Given the description of an element on the screen output the (x, y) to click on. 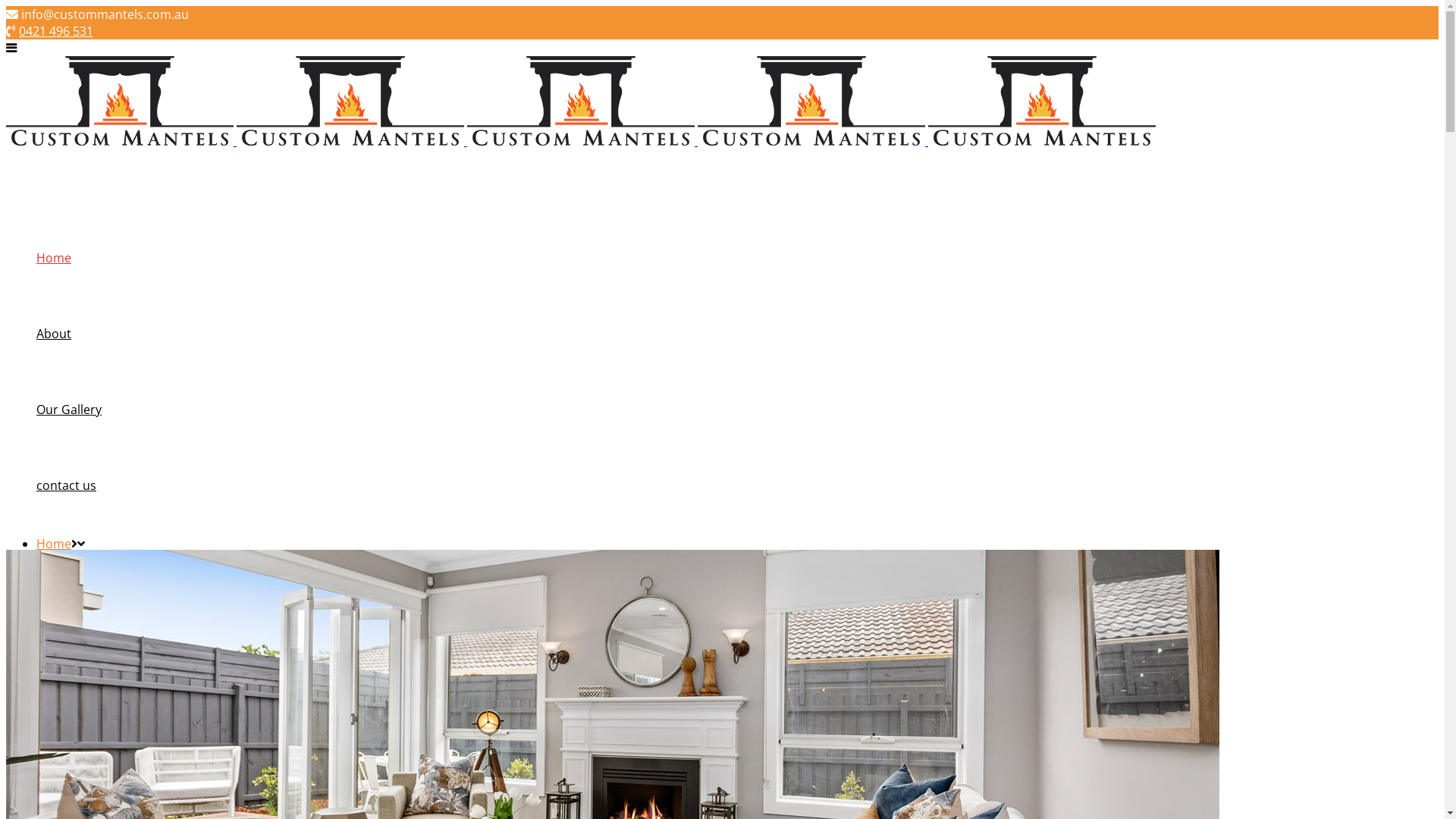
Our Gallery Element type: text (68, 576)
Our Gallery Element type: text (68, 409)
Home Element type: text (53, 543)
About Element type: text (53, 333)
contact us Element type: text (66, 484)
About Element type: text (53, 560)
Home Element type: text (53, 257)
0421 496 531 Element type: text (55, 30)
contact us Element type: text (66, 593)
